Given the description of an element on the screen output the (x, y) to click on. 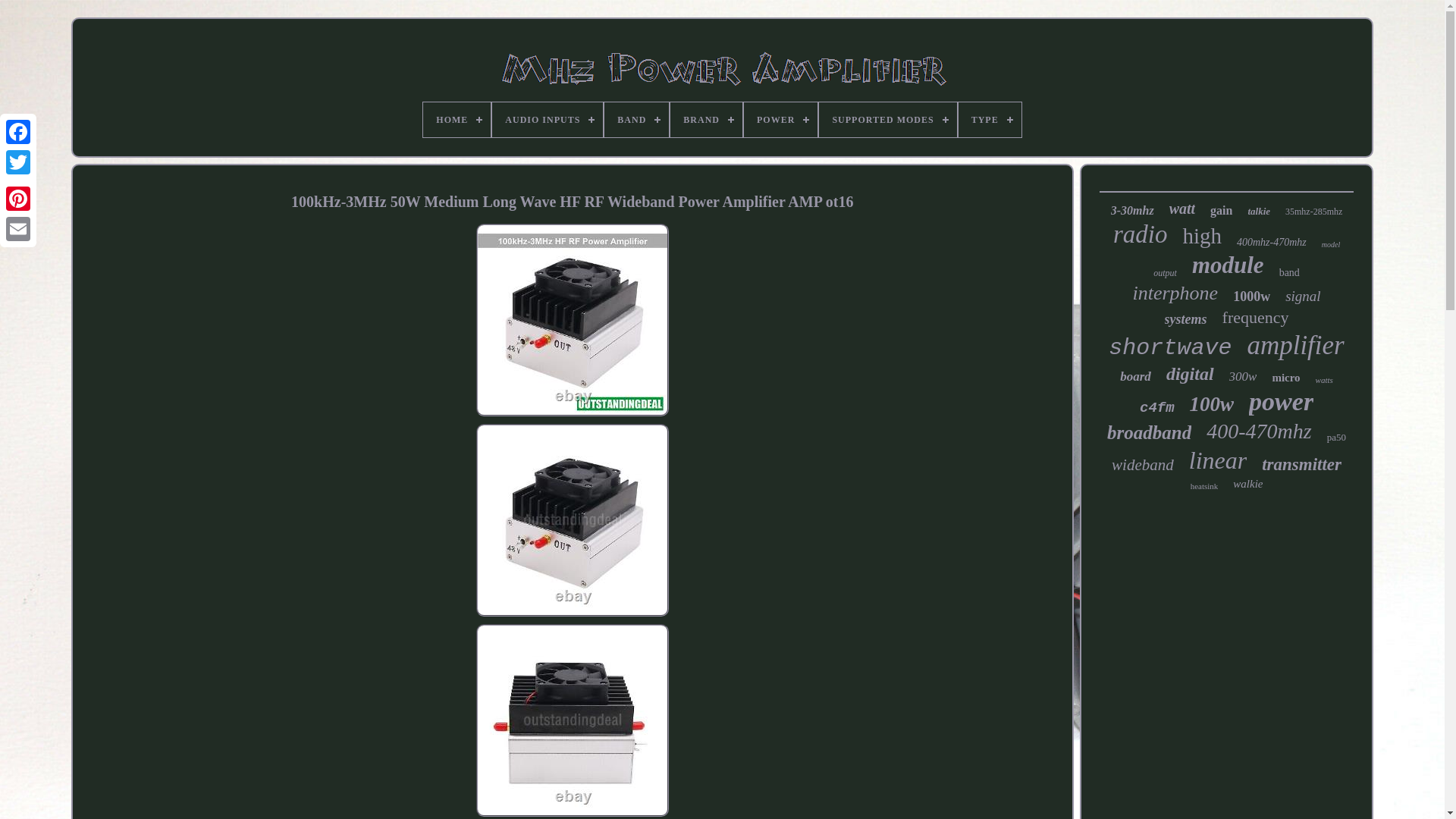
BRAND (705, 119)
HOME (456, 119)
AUDIO INPUTS (547, 119)
BAND (636, 119)
